Given the description of an element on the screen output the (x, y) to click on. 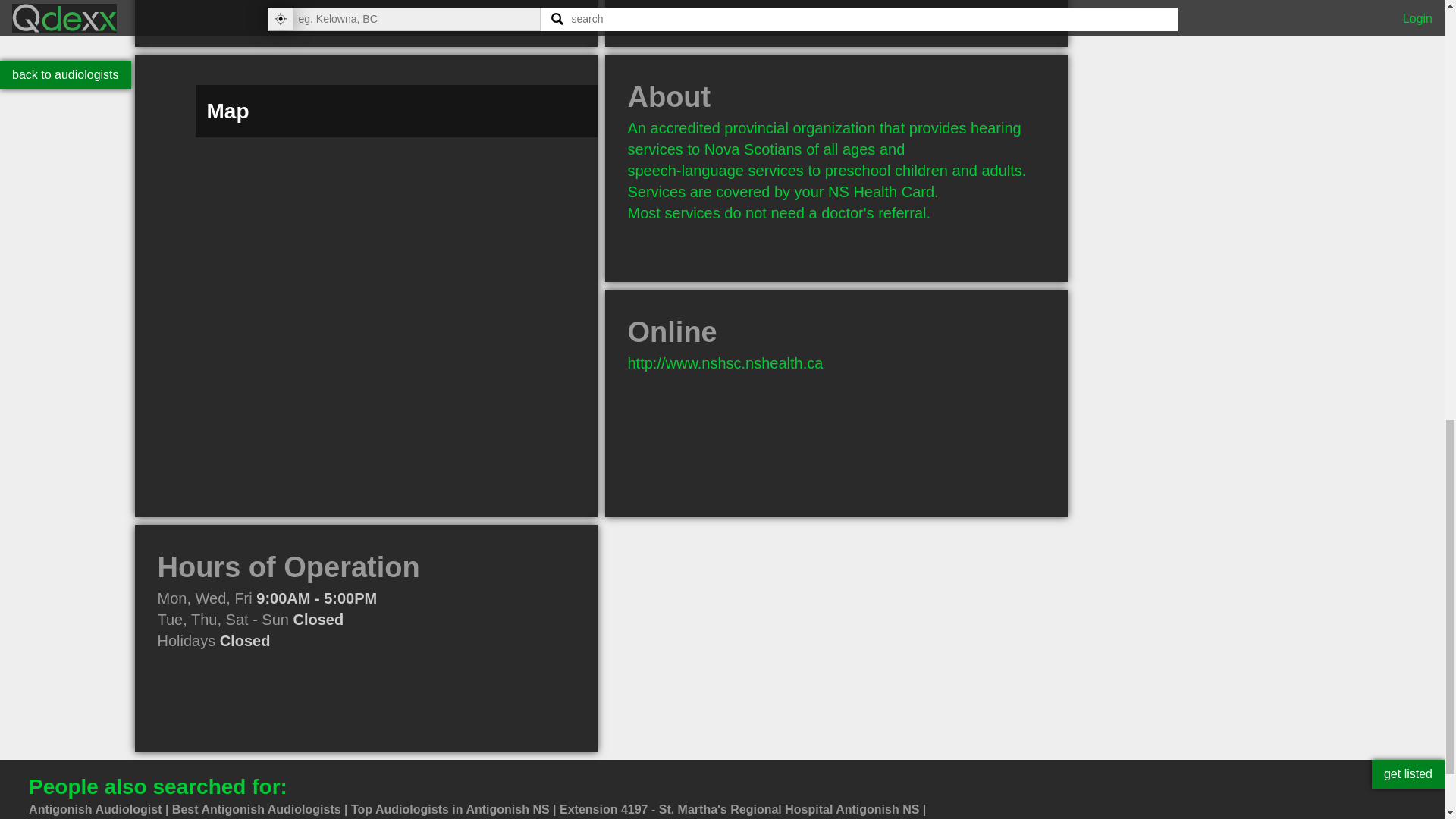
Map (365, 512)
